Given the description of an element on the screen output the (x, y) to click on. 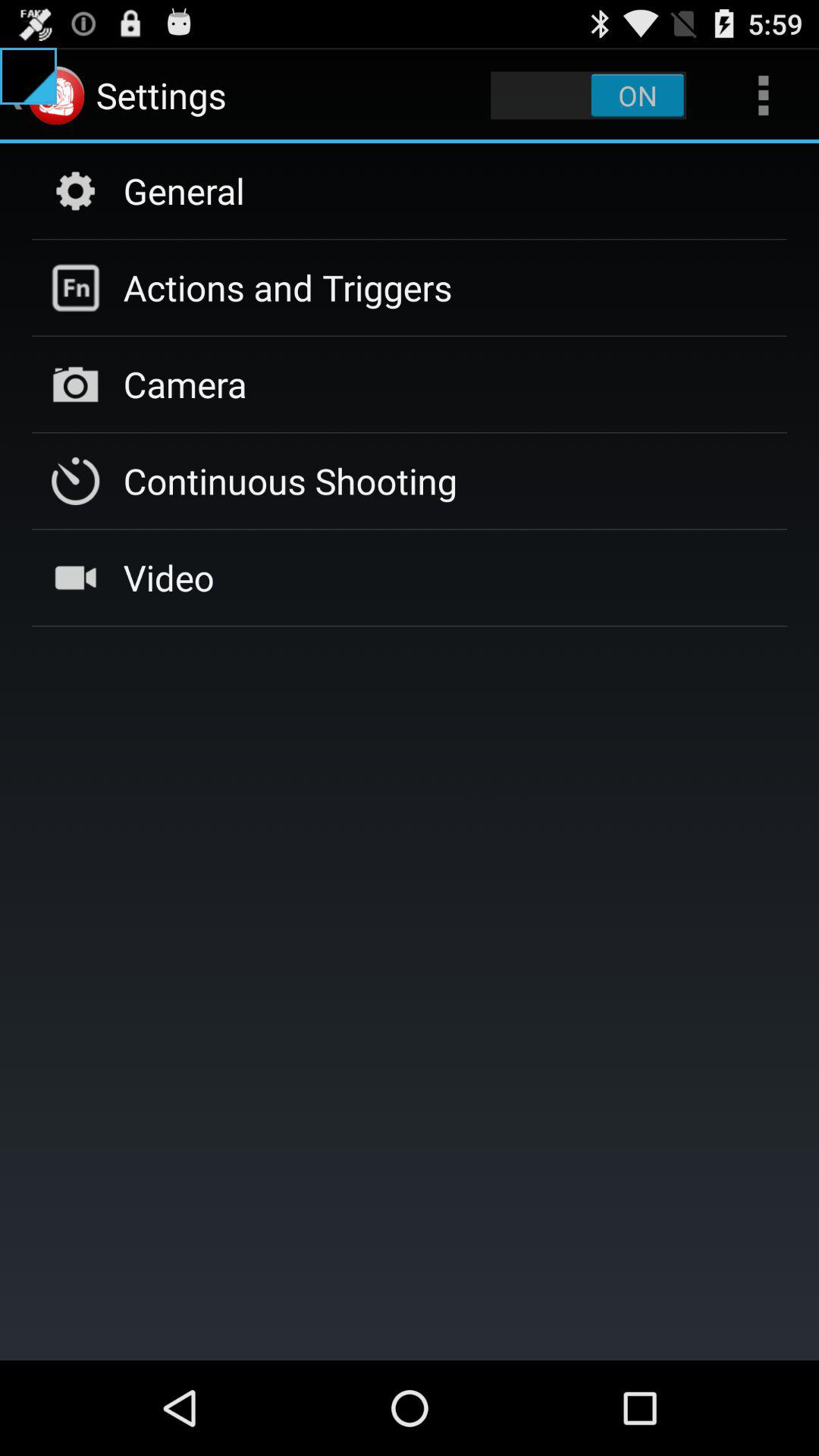
select video app (168, 577)
